Given the description of an element on the screen output the (x, y) to click on. 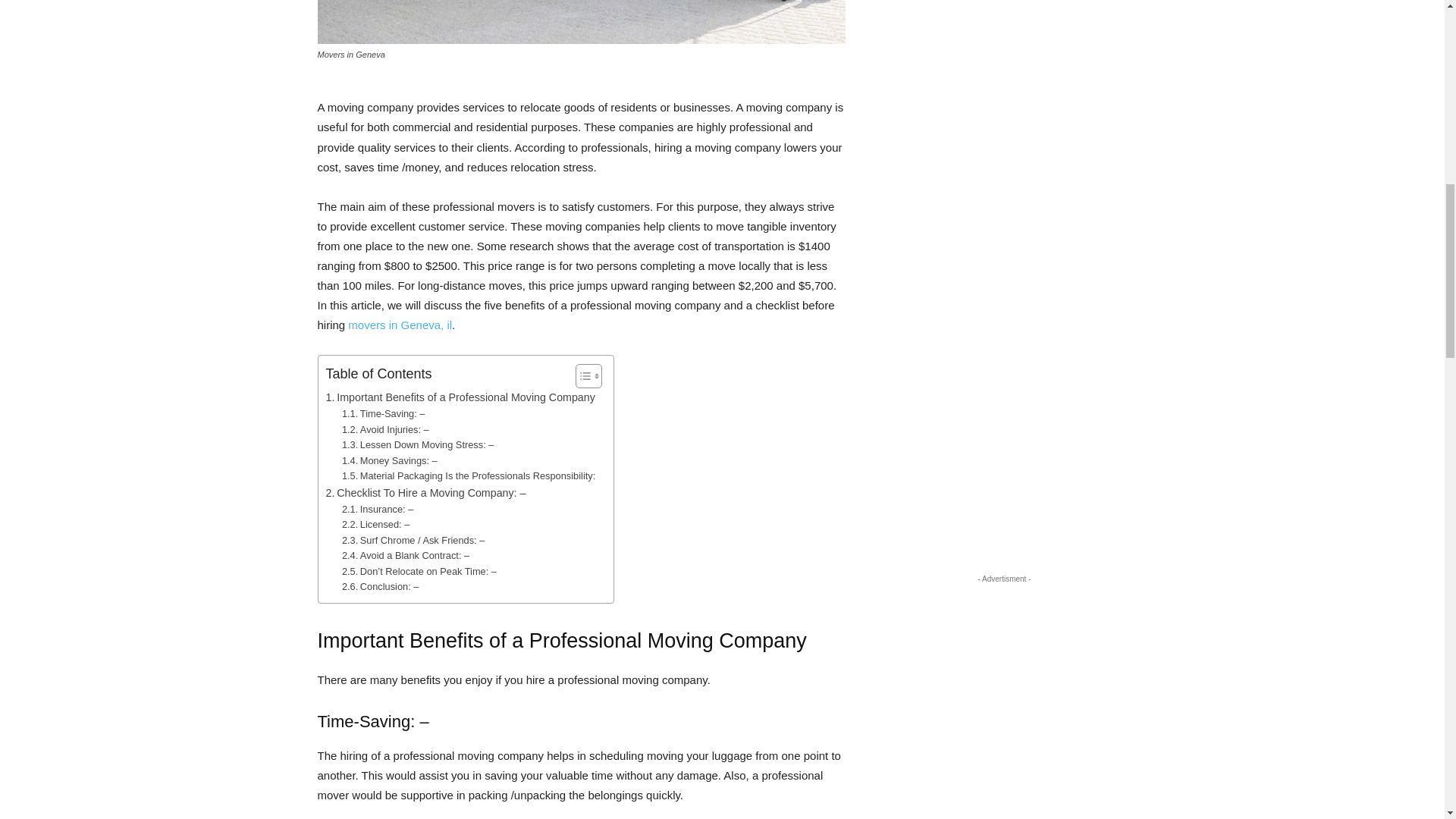
Material Packaging Is the Professionals Responsibility:  (470, 476)
Important Benefits of a Professional Moving Company (460, 397)
movers in Geneva, il (399, 324)
Important Benefits of a Professional Moving Company (460, 397)
Movers in Geneva (580, 22)
